Given the description of an element on the screen output the (x, y) to click on. 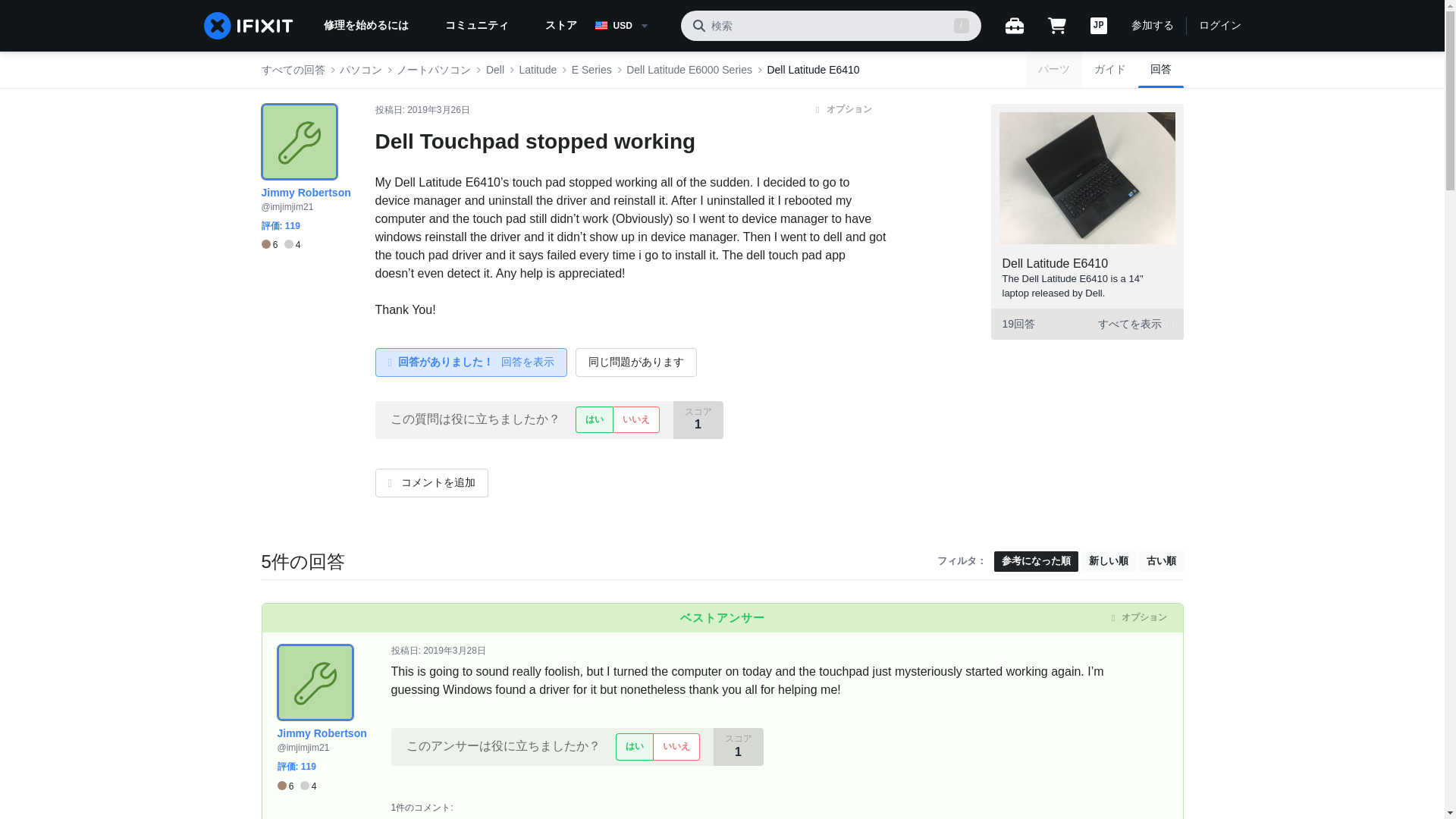
E Series (591, 69)
JP (1098, 25)
6 4 (279, 245)
Dell Latitude E6000 Series (689, 69)
Tue, 26 Mar 2019 19:37:46 -0700 (438, 109)
Latitude (537, 69)
Thu, 28 Mar 2019 10:43:21 -0700 (454, 650)
Dell Latitude E6410 (813, 69)
Dell (494, 69)
Dell Latitude E6410 (1055, 263)
USD (631, 25)
